Given the description of an element on the screen output the (x, y) to click on. 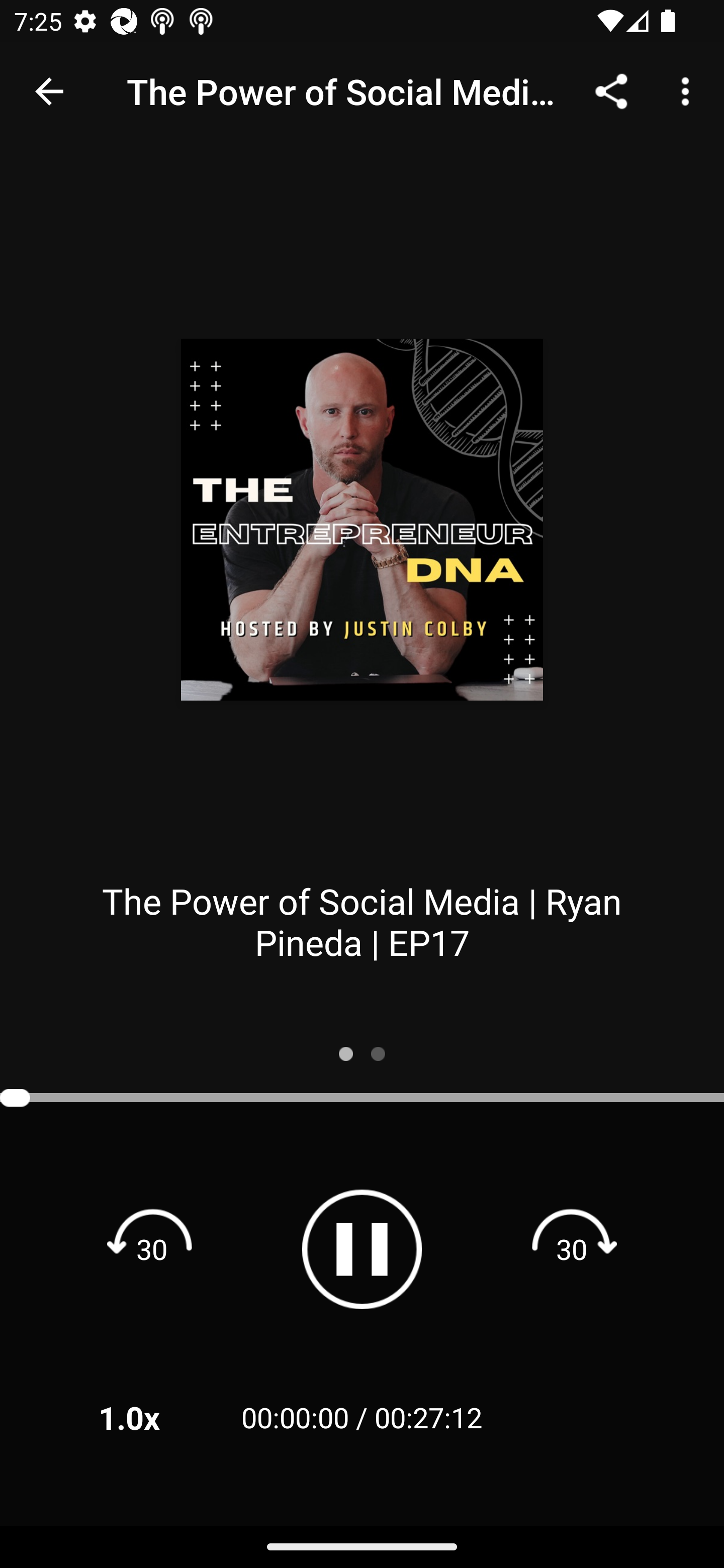
Navigate up (49, 91)
Share... (611, 90)
More options (688, 90)
Pause (361, 1249)
Rewind (151, 1248)
Fast forward (571, 1248)
1.0x Playback Speeds (154, 1417)
00:27:12 (428, 1417)
